Given the description of an element on the screen output the (x, y) to click on. 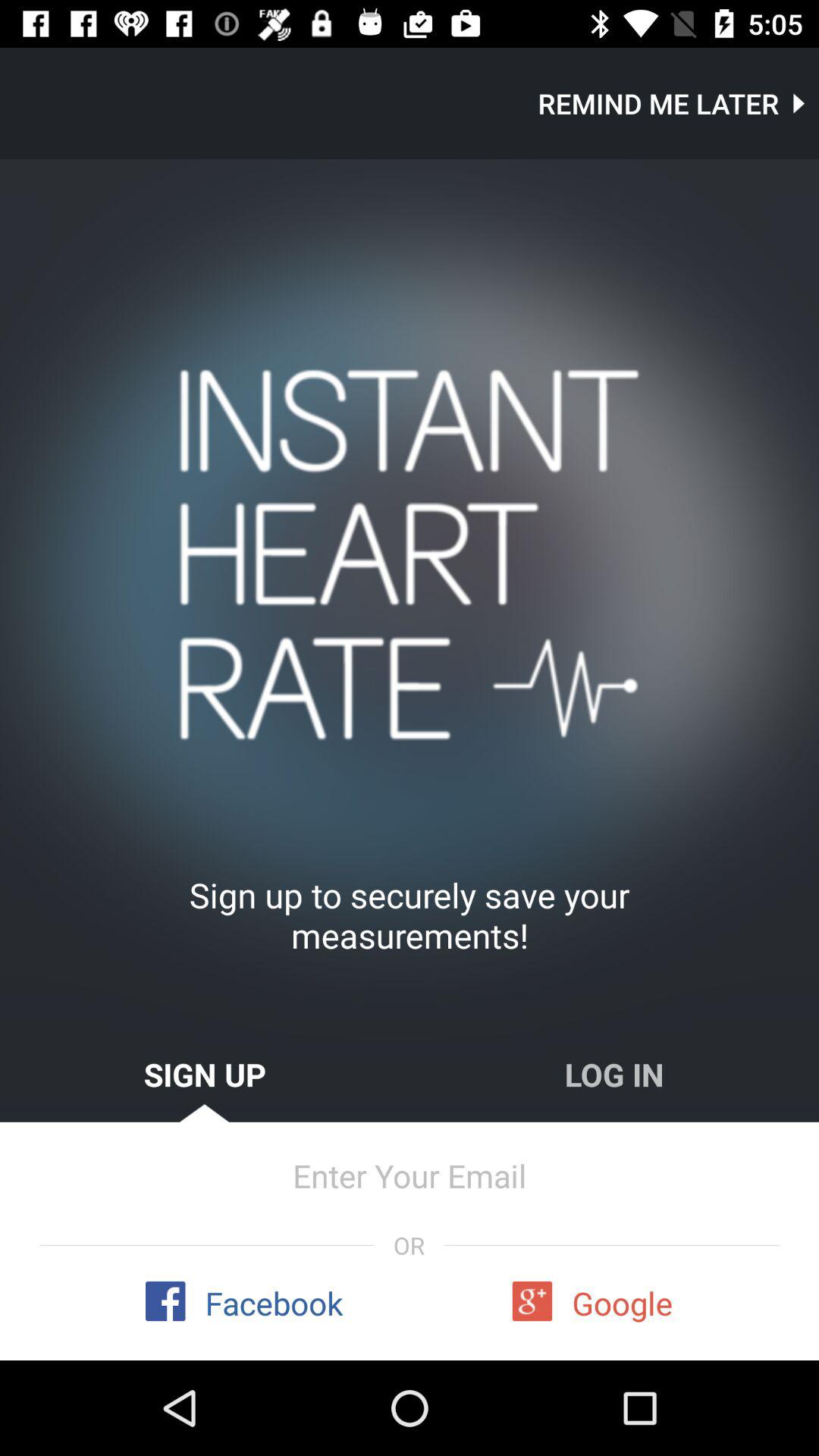
select item at the top right corner (678, 103)
